Given the description of an element on the screen output the (x, y) to click on. 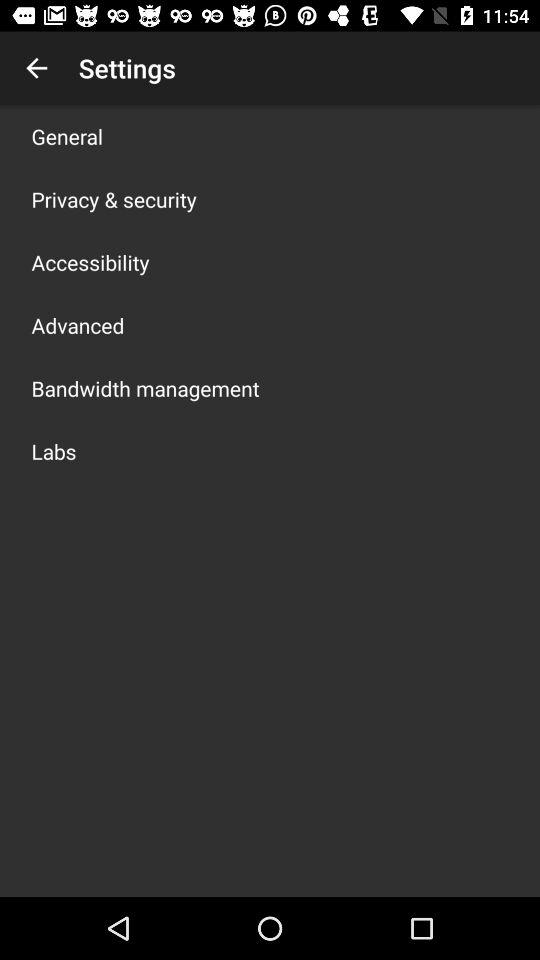
choose the icon above advanced icon (90, 262)
